Given the description of an element on the screen output the (x, y) to click on. 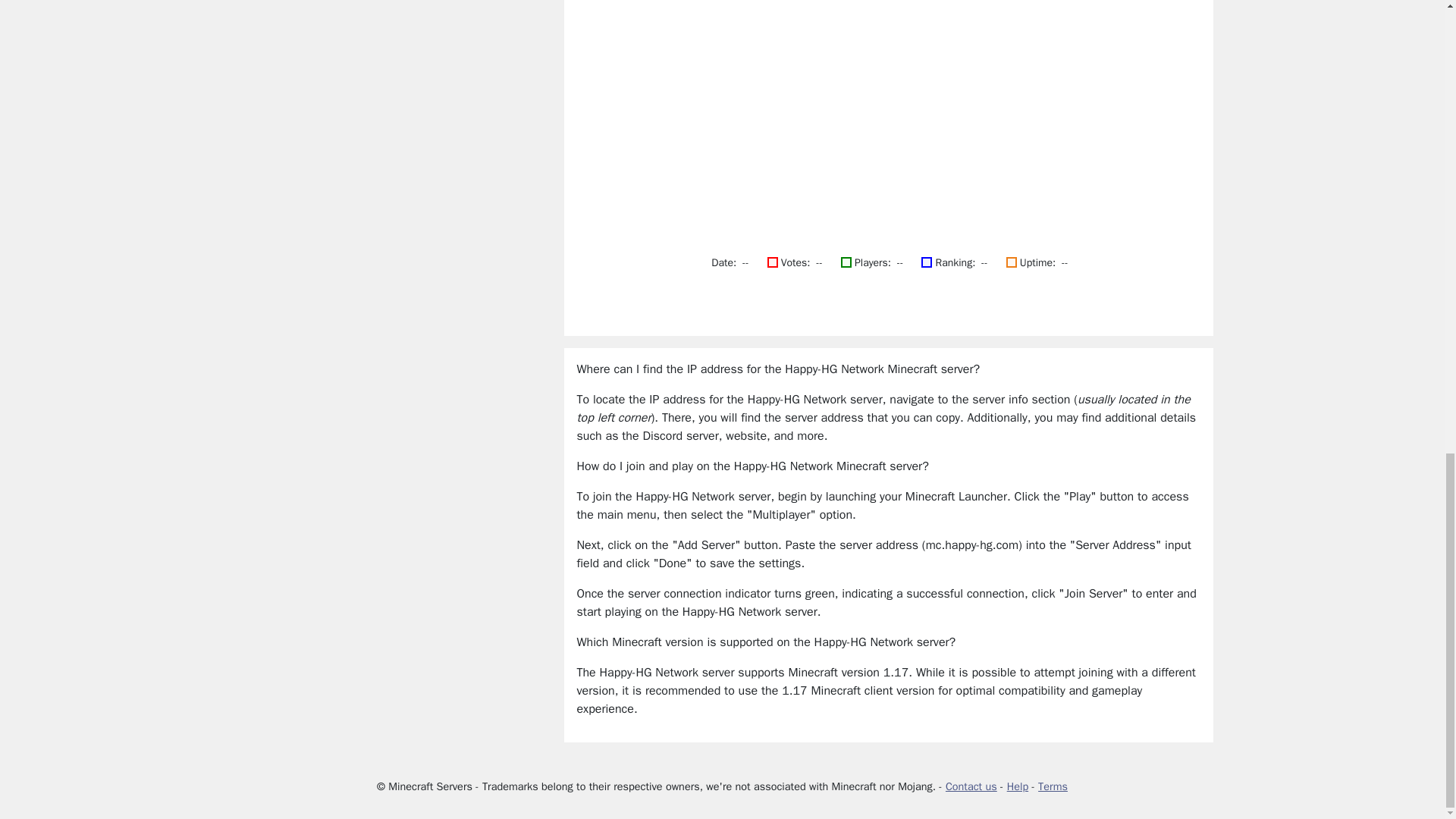
Help (1017, 786)
Terms (1052, 786)
Contact us (970, 786)
